Given the description of an element on the screen output the (x, y) to click on. 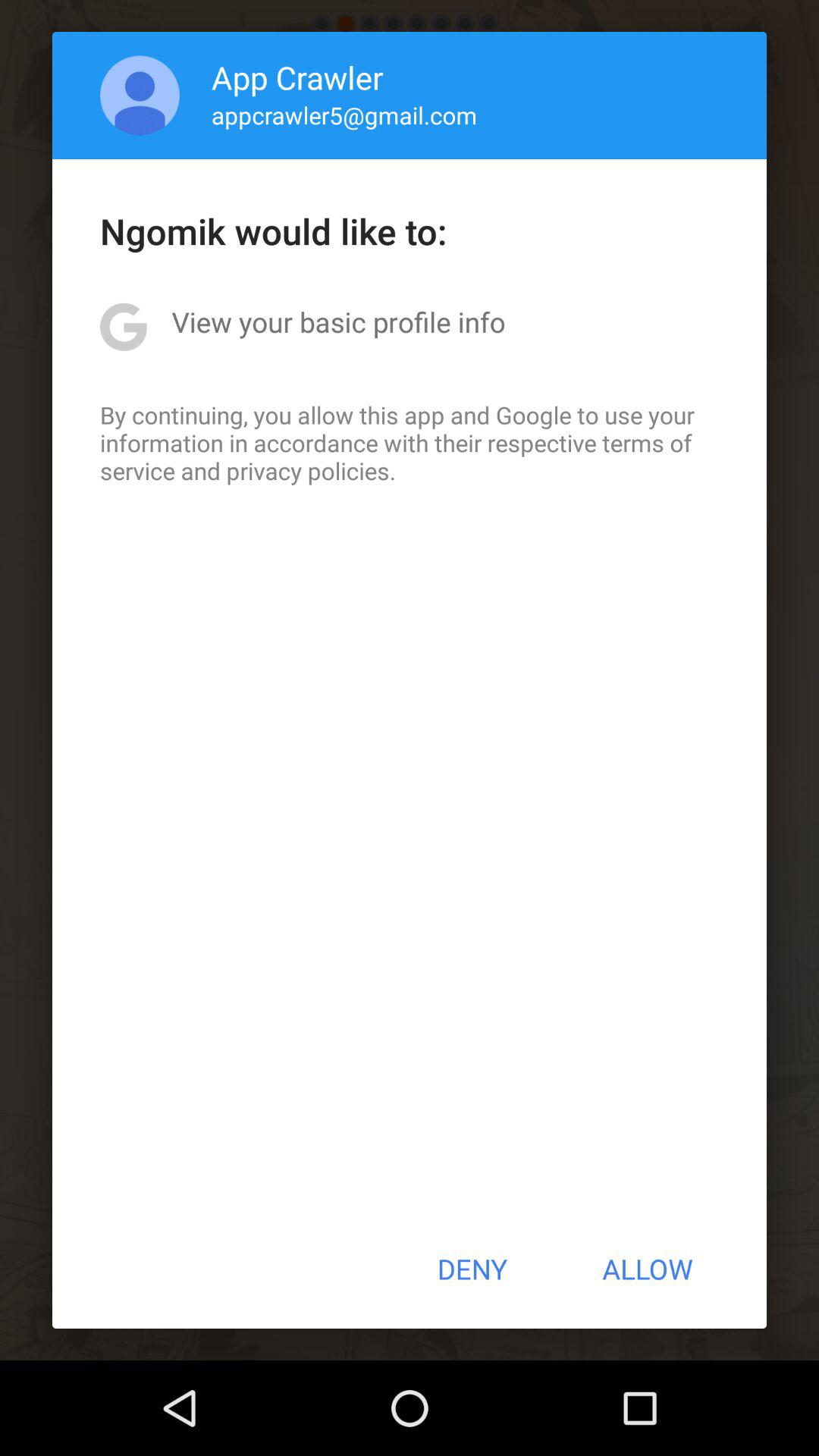
click the icon above the ngomik would like item (139, 95)
